Given the description of an element on the screen output the (x, y) to click on. 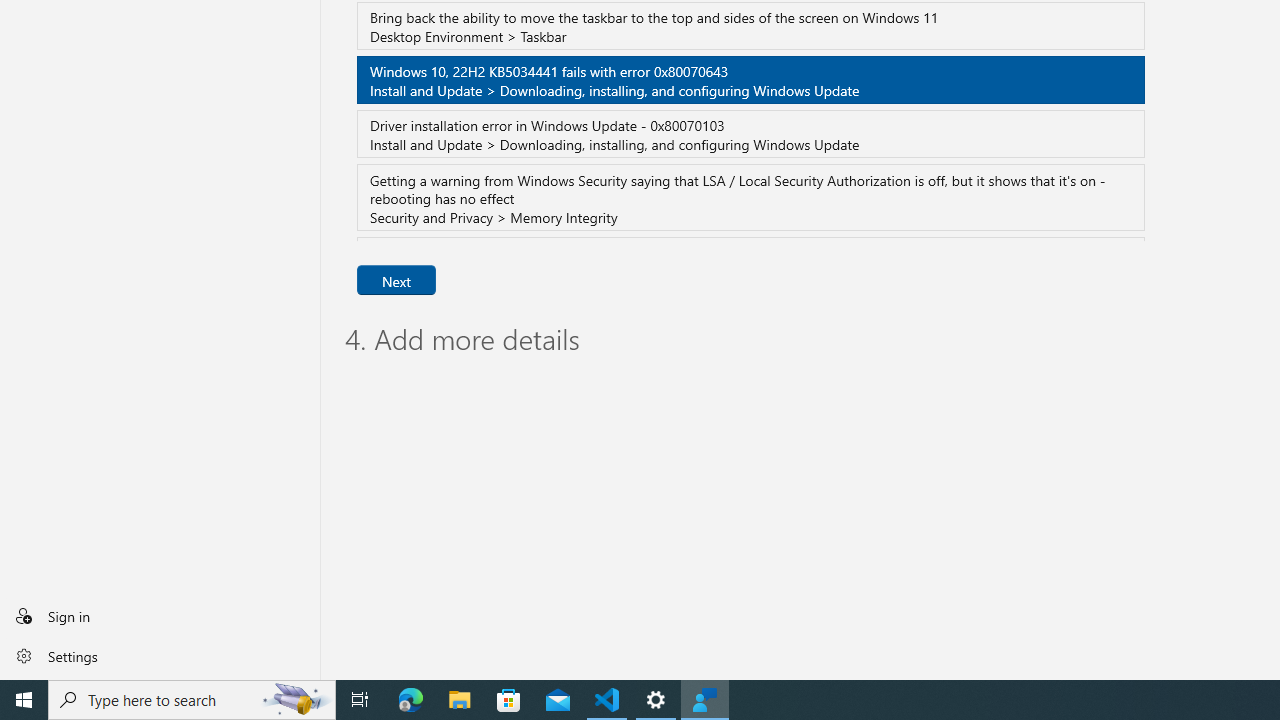
Next (396, 279)
Sign in (159, 616)
